Given the description of an element on the screen output the (x, y) to click on. 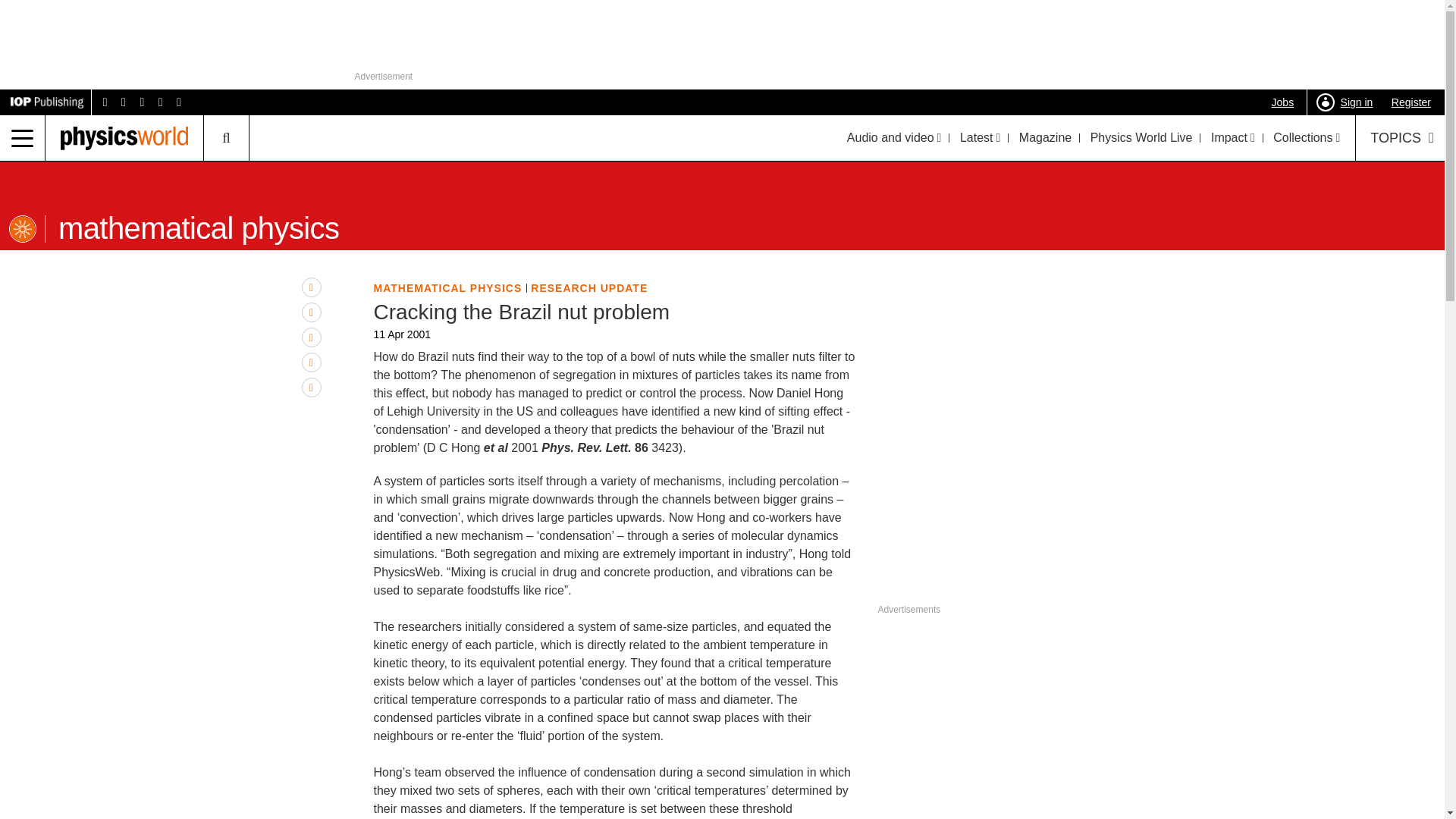
3rd party ad content (937, 522)
3rd party ad content (722, 37)
3rd party ad content (1079, 522)
3rd party ad content (1010, 728)
3rd party ad content (937, 581)
3rd party ad content (1010, 371)
3rd party ad content (1079, 581)
